Given the description of an element on the screen output the (x, y) to click on. 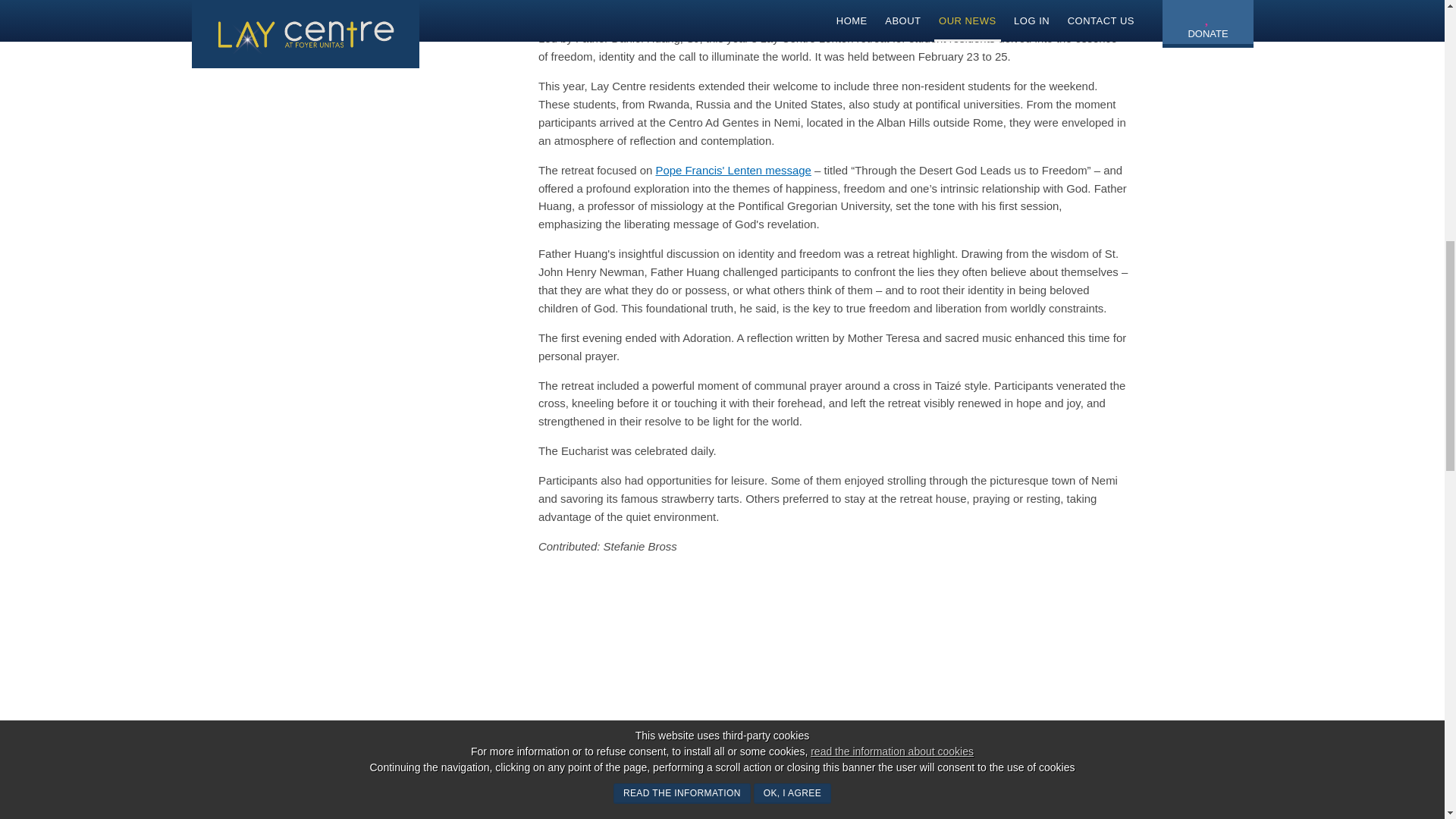
Pope Francis' Lenten message (732, 169)
Church in the world (364, 10)
Other (324, 37)
